Given the description of an element on the screen output the (x, y) to click on. 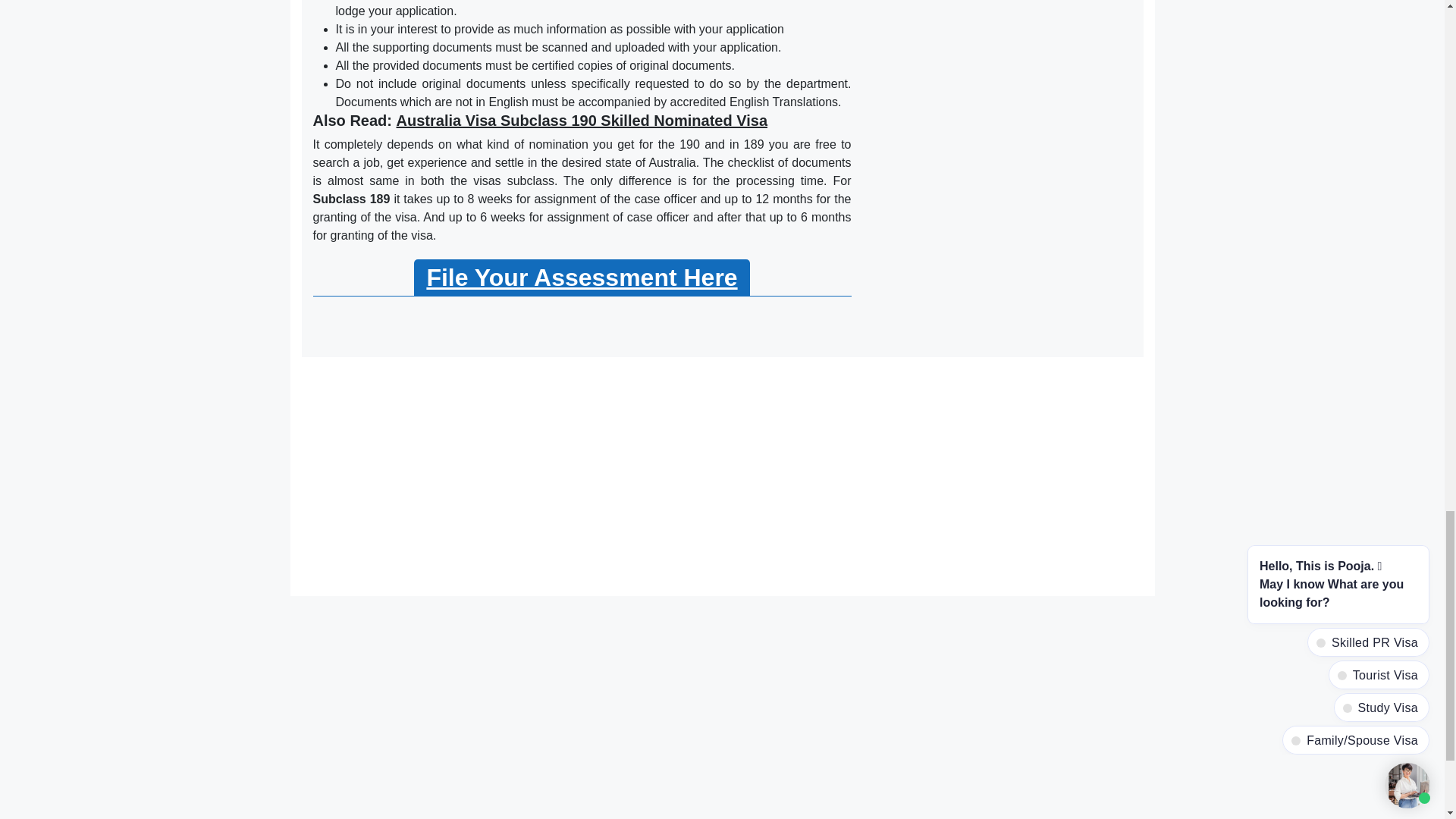
Australia Visa Subclass 190 Skilled Nominated Visa (582, 120)
File Your Assessment Here (581, 277)
Free Assessment Form (581, 277)
